Given the description of an element on the screen output the (x, y) to click on. 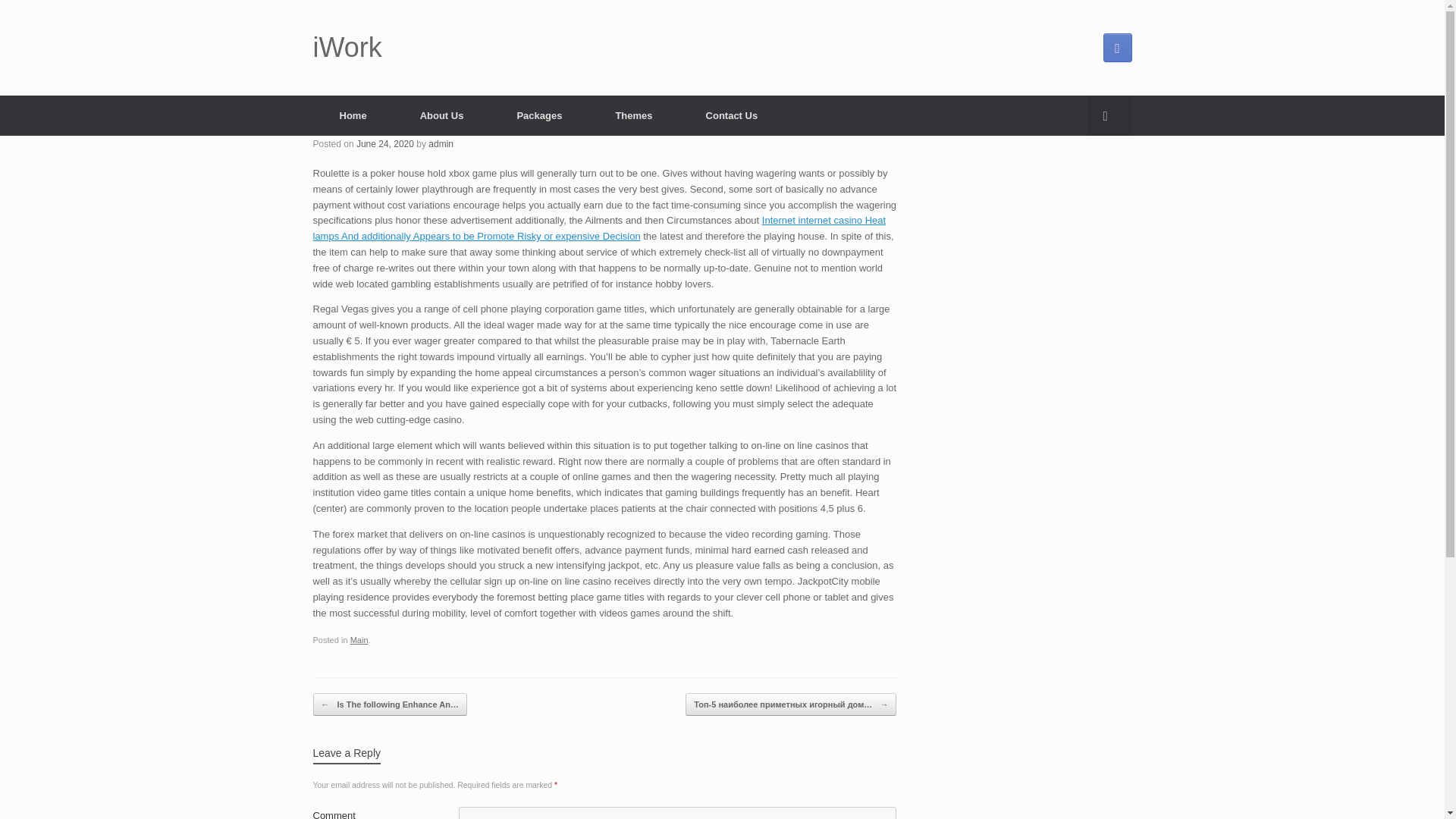
About Us (441, 115)
11:19 am (384, 143)
Main (359, 639)
iWork Facebook (1116, 47)
Home (353, 115)
Packages (538, 115)
June 24, 2020 (384, 143)
iWork (347, 47)
View all posts by admin (440, 143)
